Given the description of an element on the screen output the (x, y) to click on. 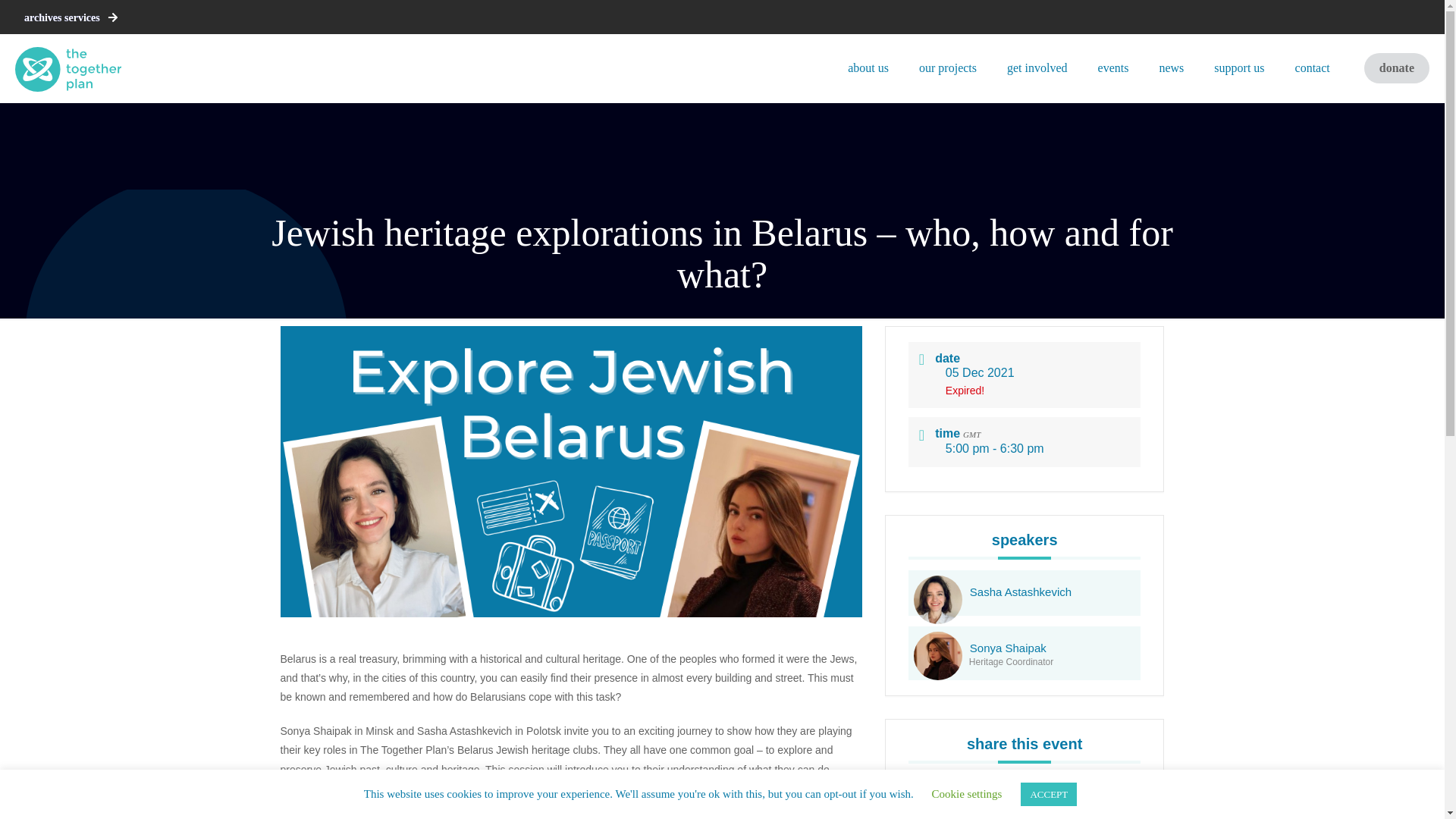
Tweet (1022, 801)
our projects (947, 68)
about us (868, 68)
news (1170, 68)
The Together Plan (67, 68)
archives services (70, 18)
Email (1056, 801)
events (1113, 68)
support us (1238, 68)
get involved (1037, 68)
Share on Facebook (989, 801)
